Given the description of an element on the screen output the (x, y) to click on. 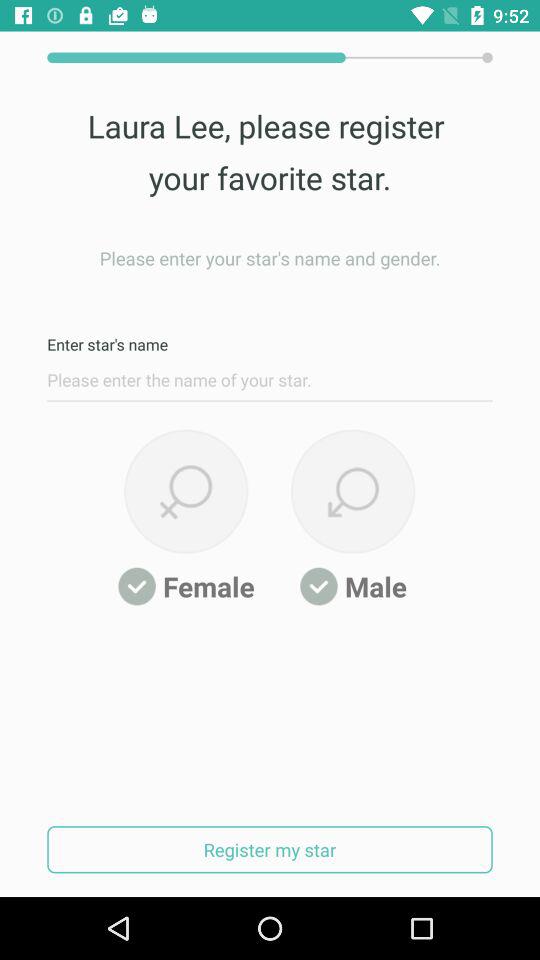
enter name (269, 385)
